Given the description of an element on the screen output the (x, y) to click on. 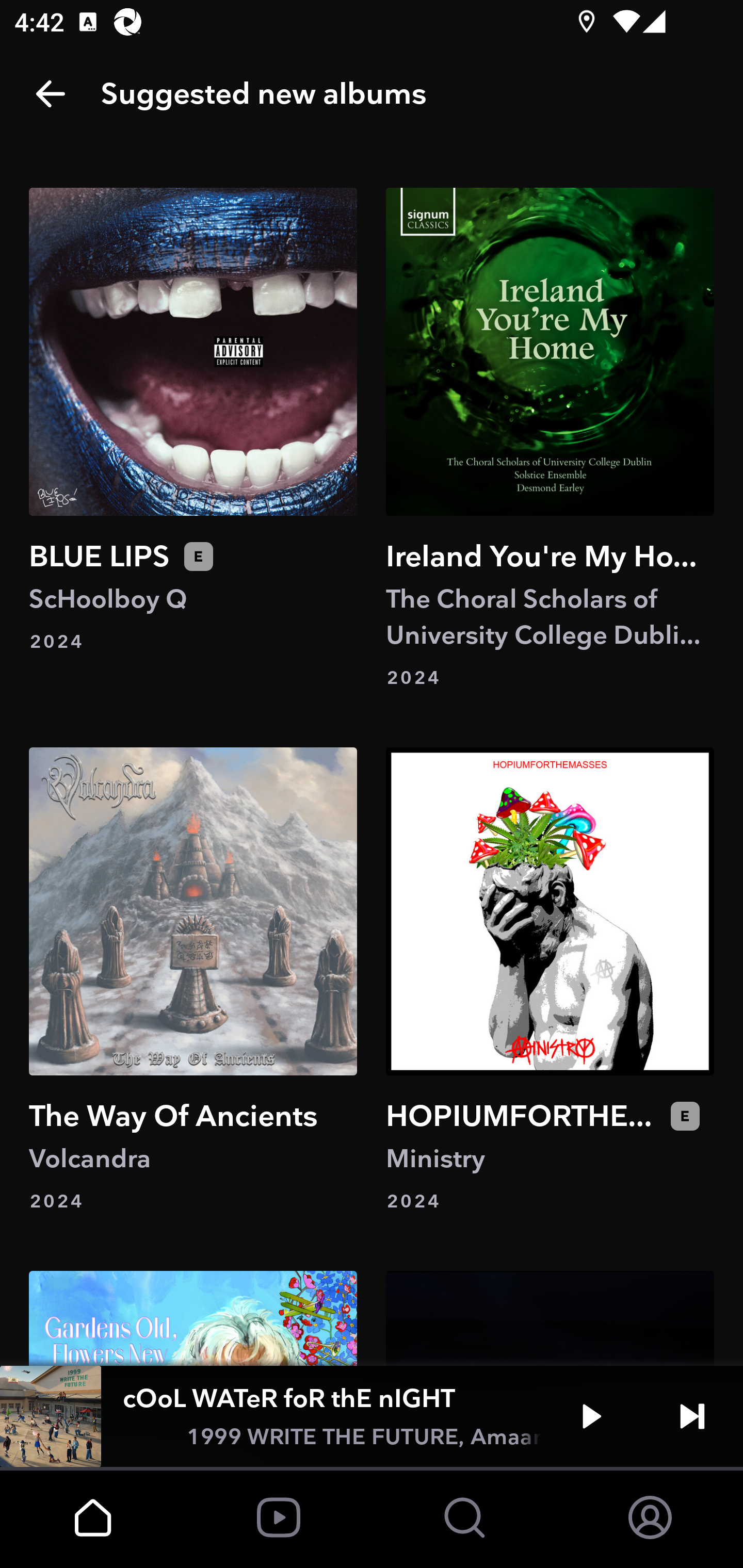
BLUE LIPS ScHoolboy Q 2024 (192, 438)
The Way Of Ancients Volcandra 2024 (192, 980)
HOPIUMFORTHEMASSES Ministry 2024 (549, 980)
Play (590, 1416)
